Given the description of an element on the screen output the (x, y) to click on. 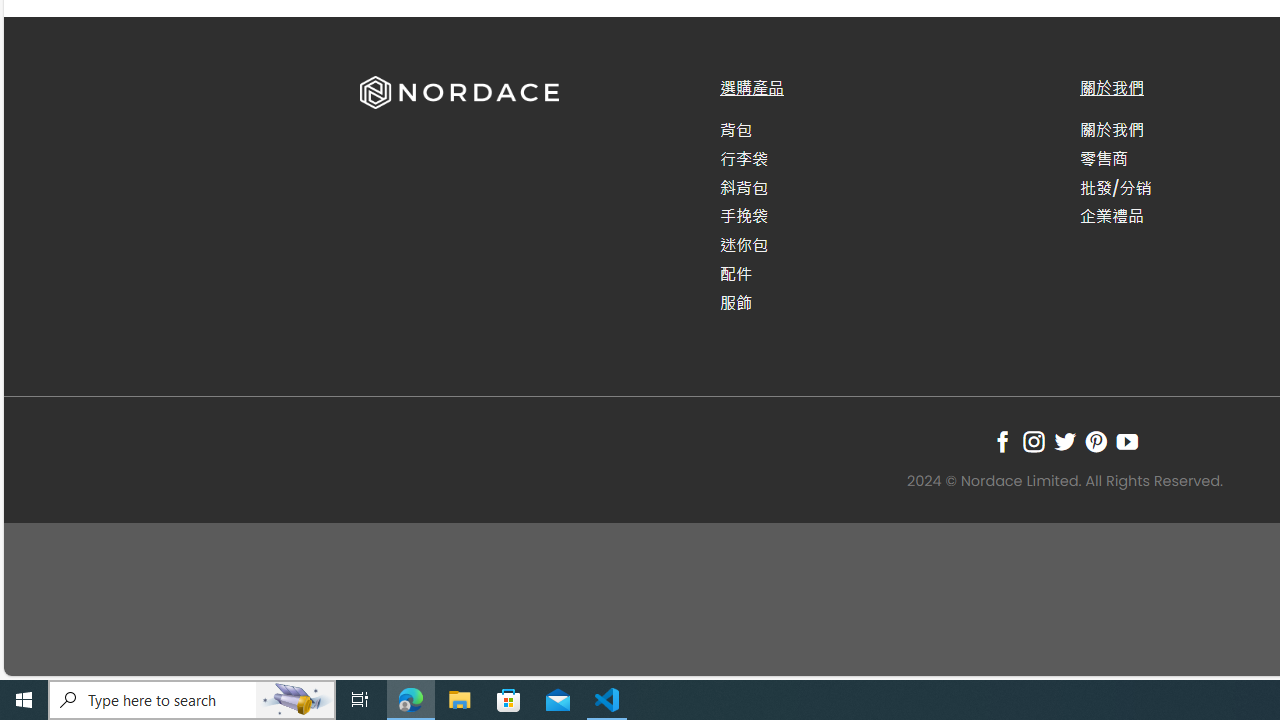
Follow on Twitter (1064, 441)
Follow on Instagram (1033, 441)
Follow on Facebook (1002, 441)
Follow on Pinterest (1096, 441)
